Given the description of an element on the screen output the (x, y) to click on. 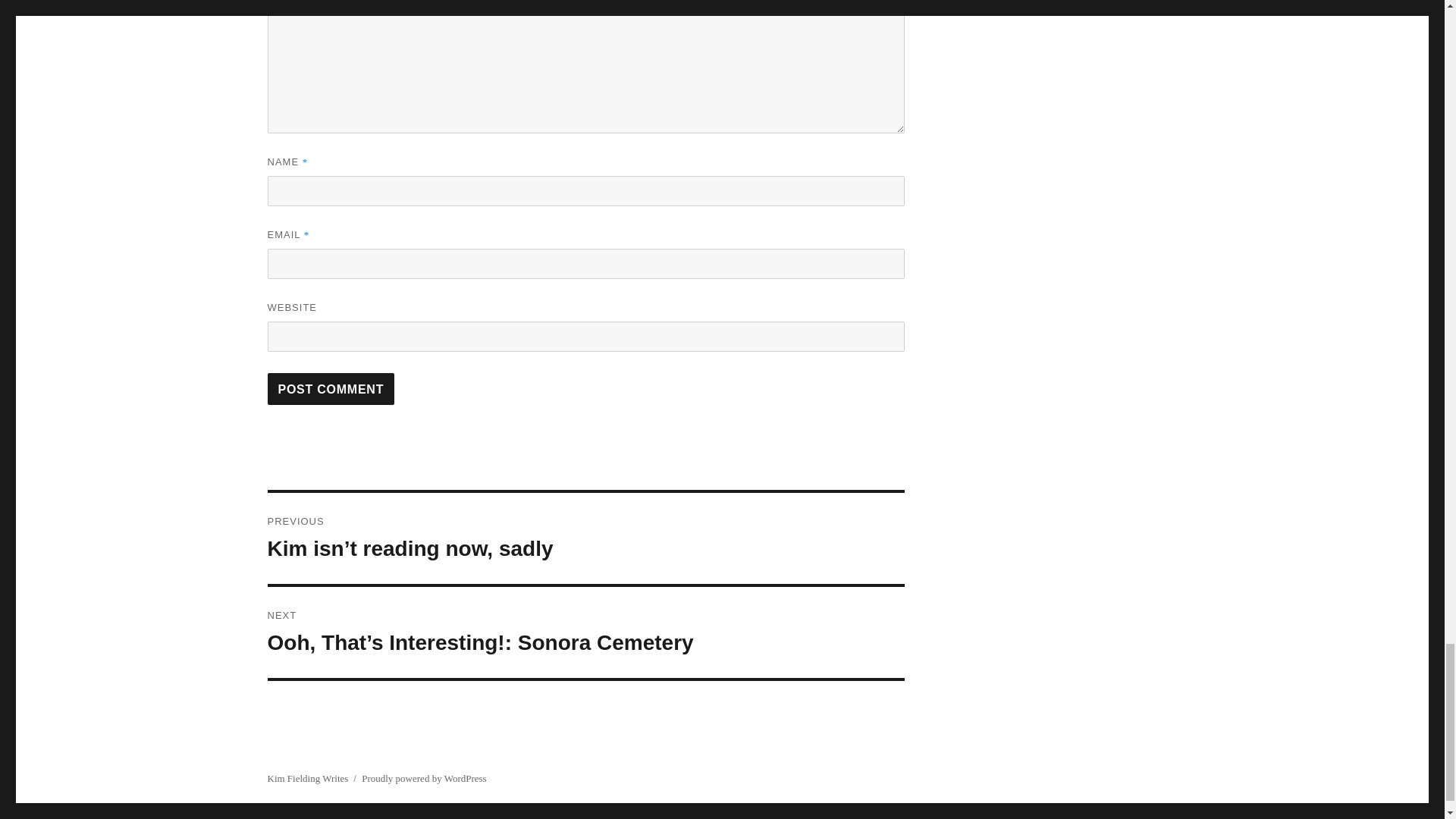
Post Comment (330, 388)
